Given the description of an element on the screen output the (x, y) to click on. 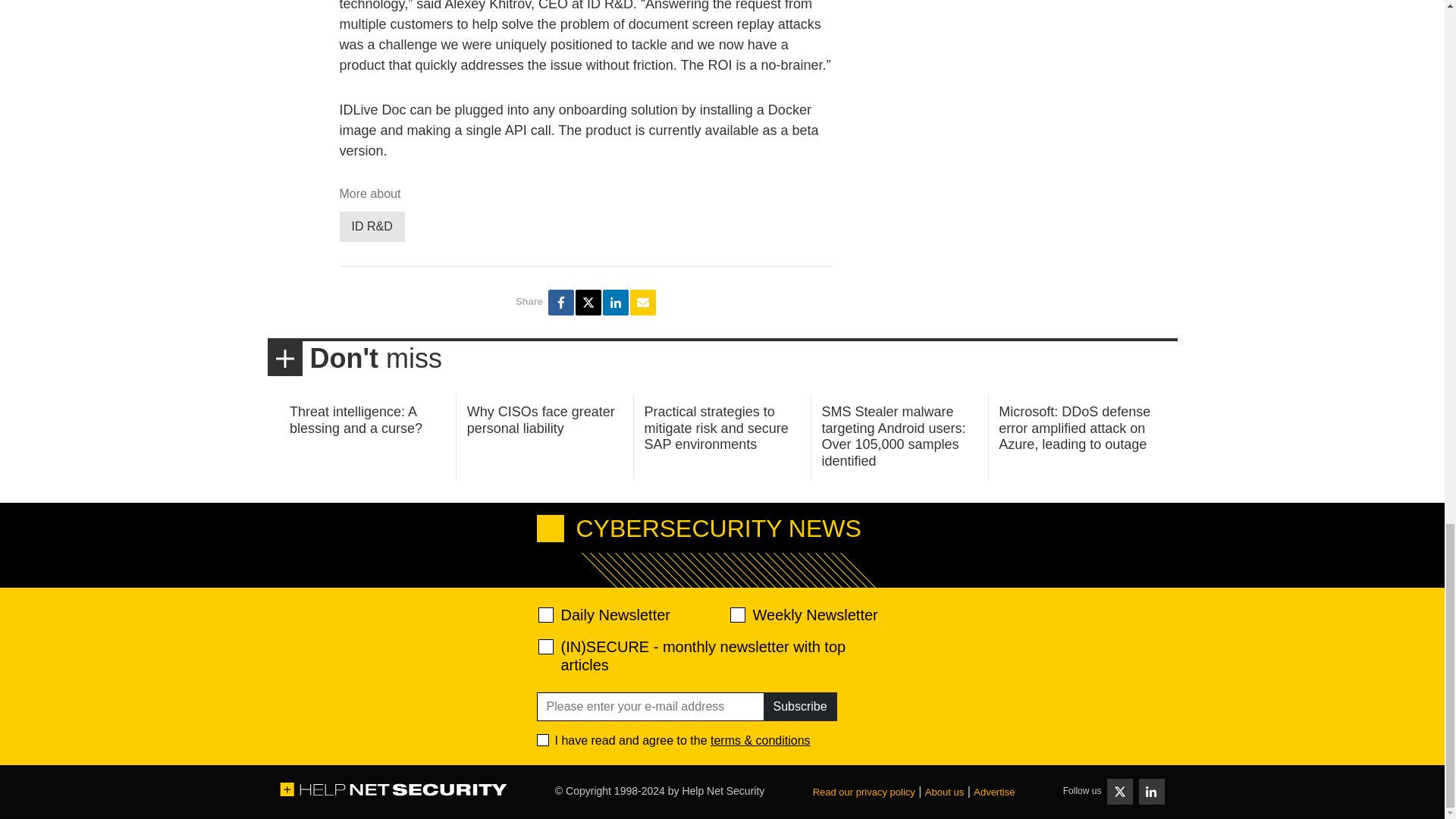
28abe5d9ef (545, 645)
Threat intelligence: A blessing and a curse? (355, 419)
Why CISOs face greater personal liability (540, 419)
1 (542, 739)
d2d471aafa (736, 613)
520ac2f639 (545, 613)
